Given the description of an element on the screen output the (x, y) to click on. 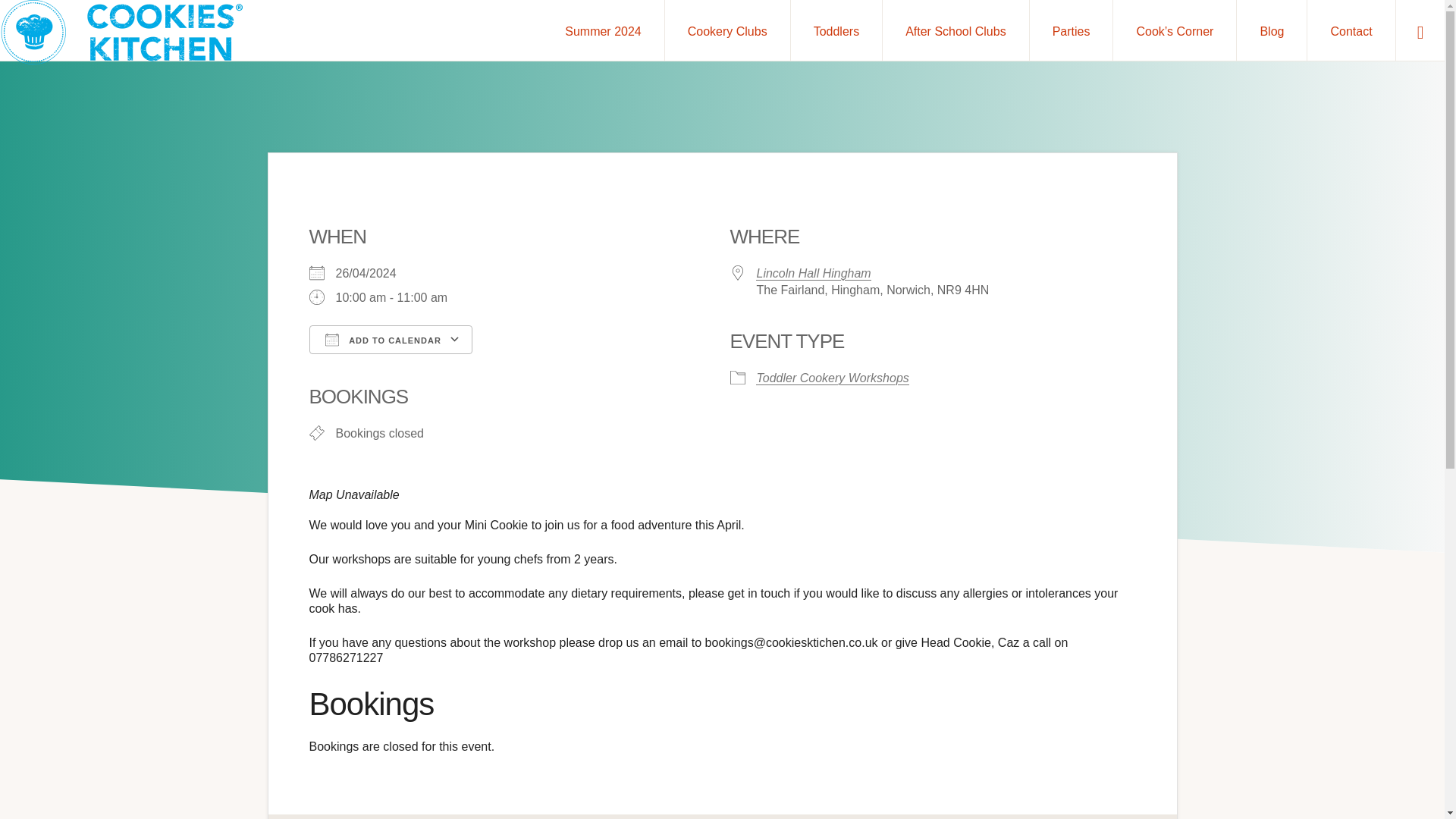
Parties (1071, 30)
Google Calendar (534, 366)
After School Clubs (955, 30)
Toddlers (836, 30)
Cookies Kitchen (342, 753)
Contact (1350, 30)
Download ICS (382, 366)
Toddler Cookery Workshops (832, 377)
Lincoln Hall Hingham (813, 273)
